Given the description of an element on the screen output the (x, y) to click on. 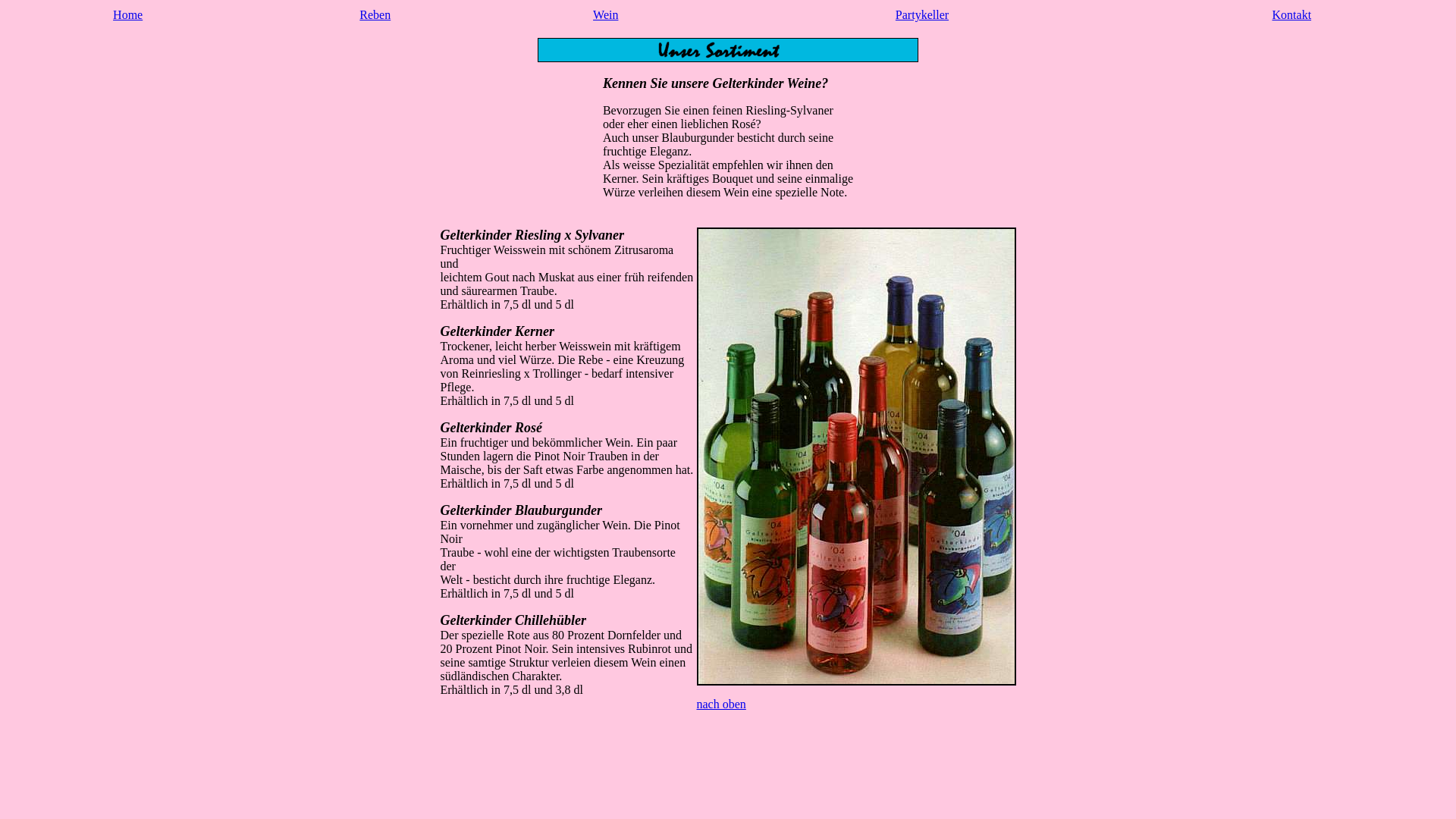
Home Element type: text (127, 14)
Partykeller Element type: text (921, 14)
Wein Element type: text (605, 14)
Kontakt Element type: text (1291, 14)
nach oben Element type: text (720, 703)
Reben Element type: text (374, 14)
